Given the description of an element on the screen output the (x, y) to click on. 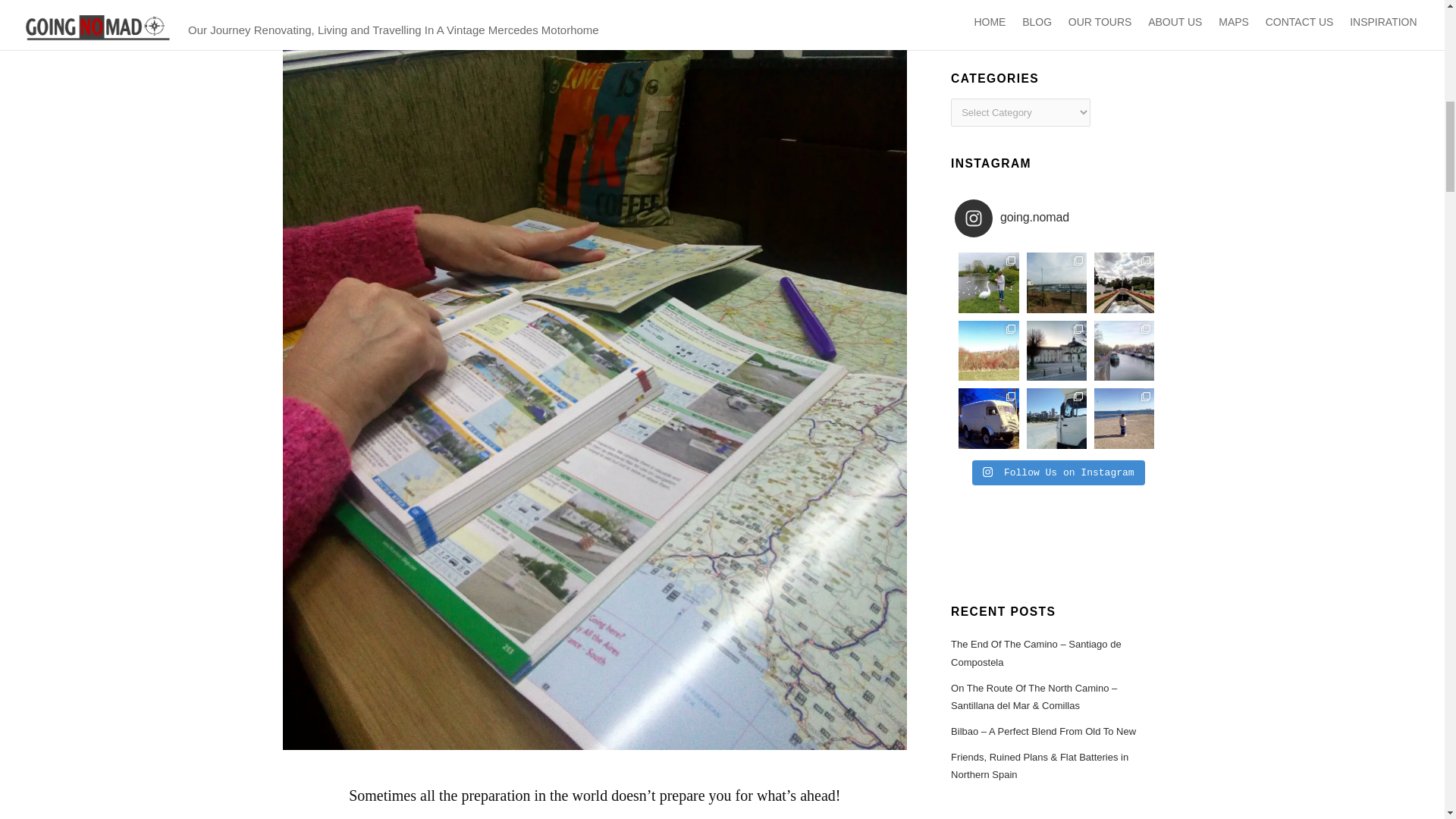
Follow Us on Instagram (1058, 473)
going.nomad (1030, 218)
